Given the description of an element on the screen output the (x, y) to click on. 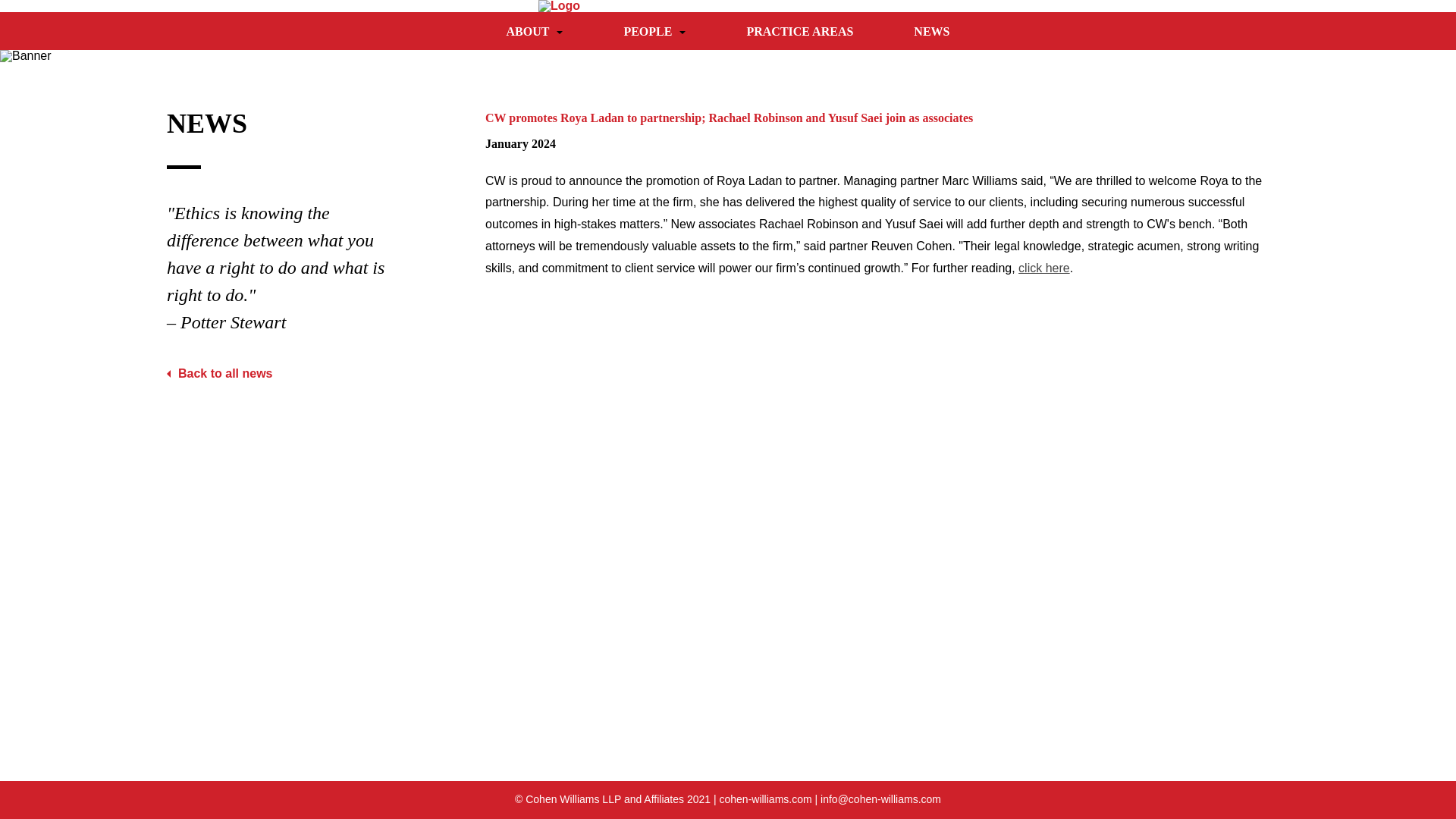
click here (1043, 267)
Back to all news (220, 373)
PRACTICE AREAS (799, 30)
cohen-williams.com (764, 799)
NEWS (931, 30)
